Given the description of an element on the screen output the (x, y) to click on. 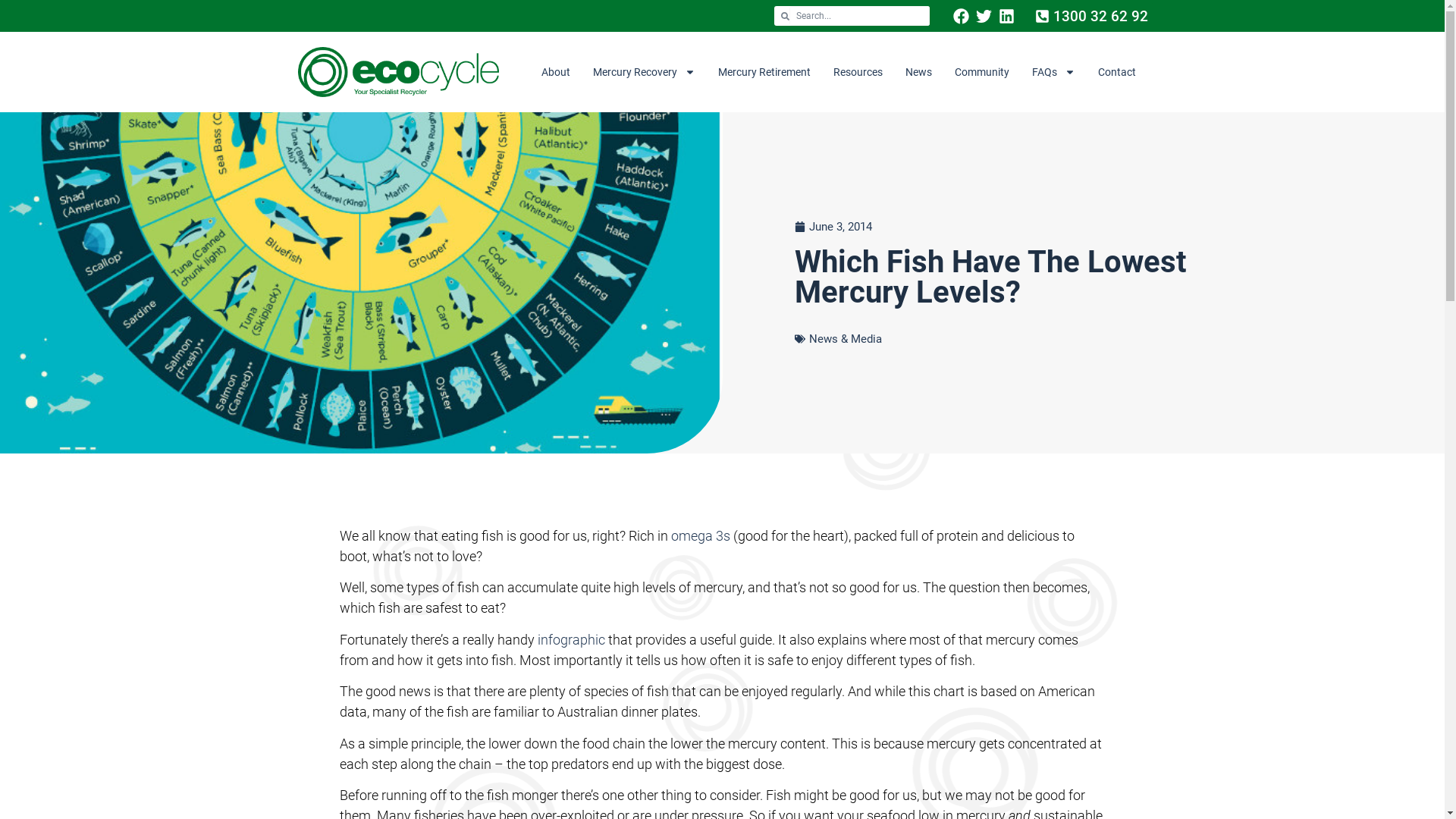
June 3, 2014 Element type: text (833, 226)
Search Element type: hover (859, 15)
Mercury Recovery Element type: text (643, 71)
Mercury Retirement Element type: text (764, 71)
Community Element type: text (981, 71)
Resources Element type: text (858, 71)
FAQs Element type: text (1053, 71)
News Element type: text (917, 71)
1300 32 62 92 Element type: text (1091, 17)
Contact Element type: text (1115, 71)
omega 3s Element type: text (699, 535)
About Element type: text (554, 71)
News & Media Element type: text (845, 338)
infographic Element type: text (570, 639)
